Given the description of an element on the screen output the (x, y) to click on. 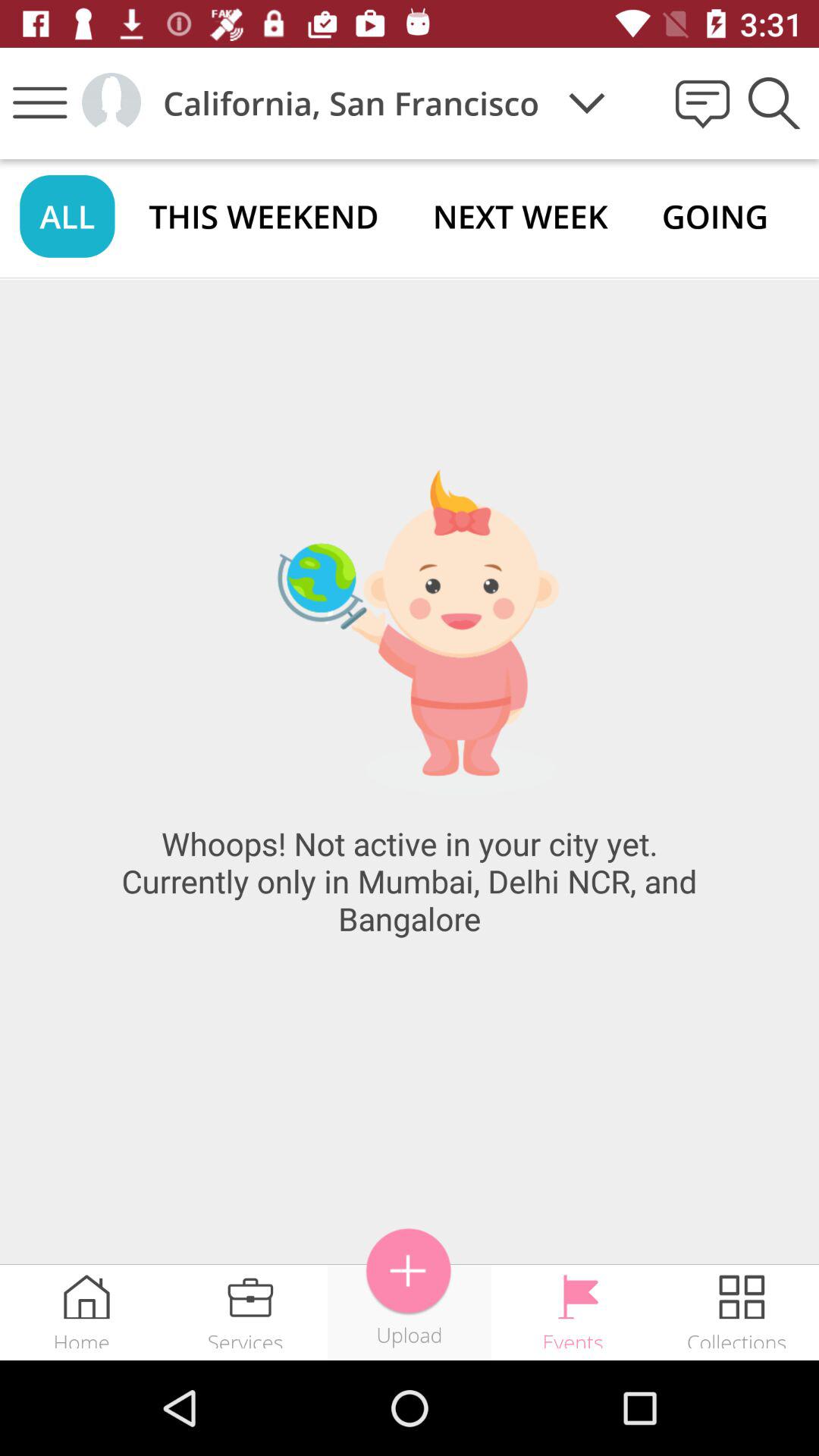
select icon above going (772, 102)
